Given the description of an element on the screen output the (x, y) to click on. 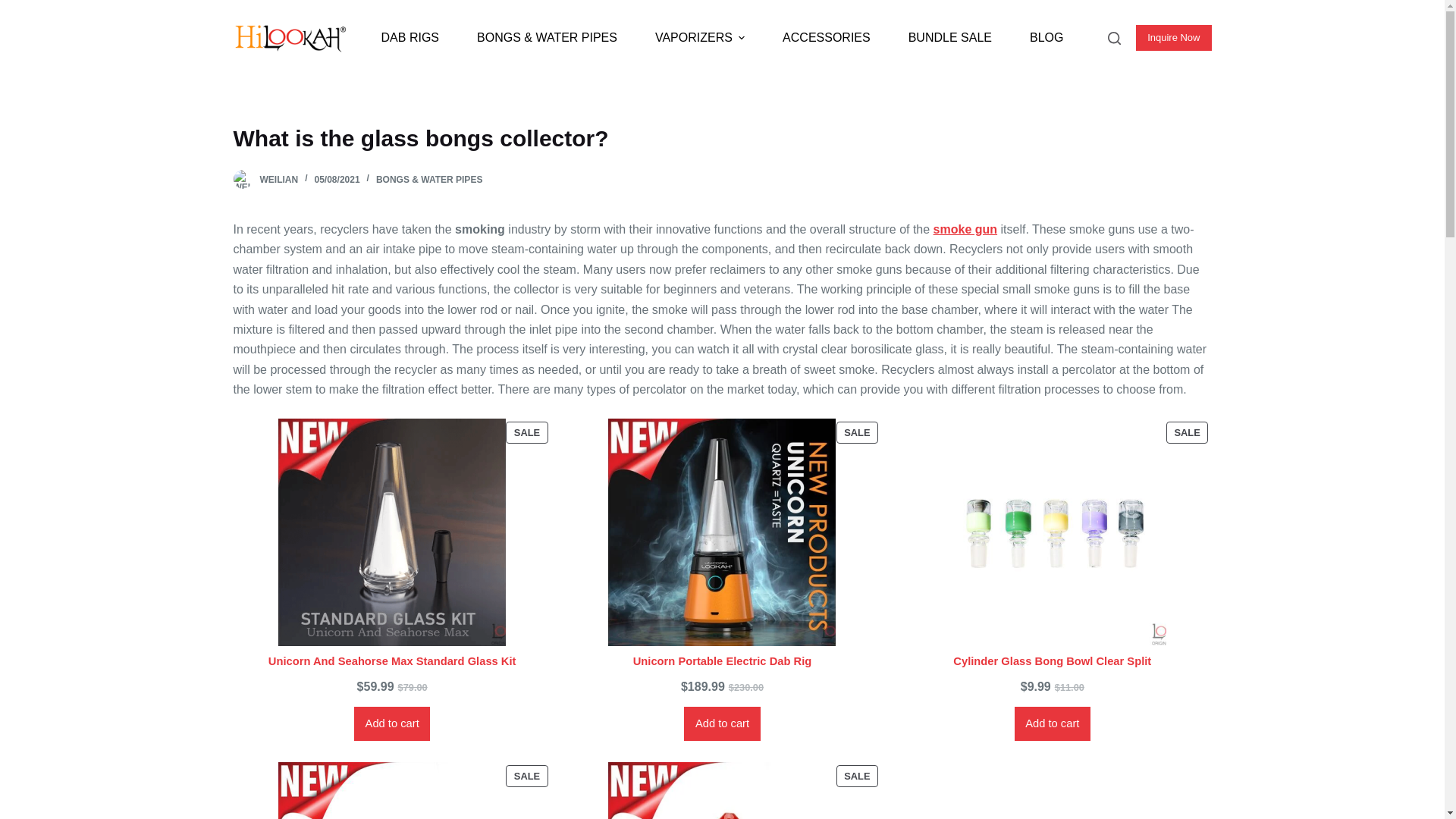
BUNDLE SALE (949, 37)
ACCESSORIES (825, 37)
Skip to content (15, 7)
DAB RIGS (410, 37)
What is the glass bongs collector? (721, 138)
BLOG (1045, 37)
Posts by WeiLian (278, 179)
VAPORIZERS (699, 37)
